Given the description of an element on the screen output the (x, y) to click on. 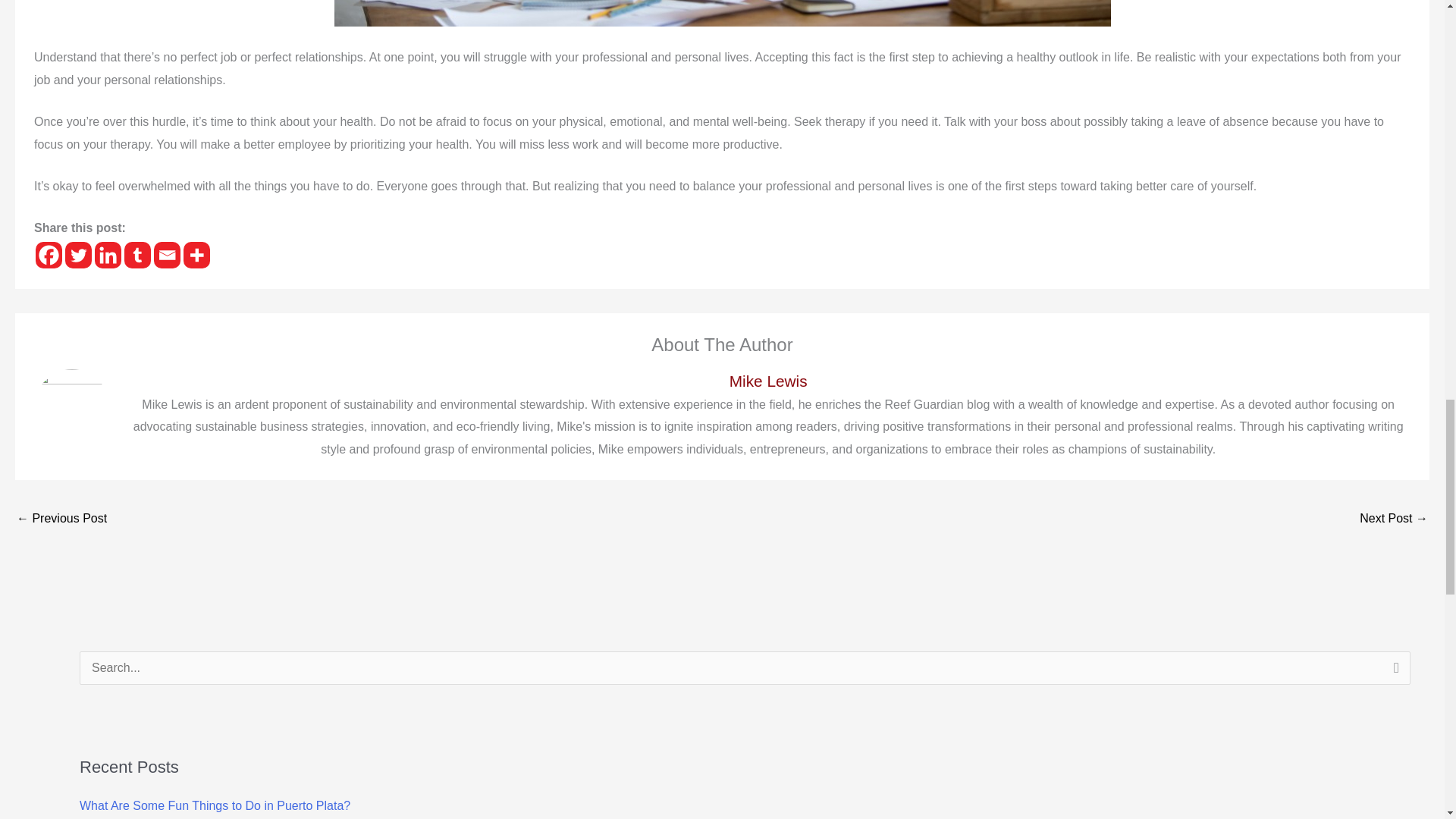
Linkedin (107, 254)
More (196, 254)
Cybersecurity: Are You Paranoid Enough? (61, 519)
Tumblr (137, 254)
Mike Lewis (767, 381)
3 Ways to Reduce Divorce Stress (1393, 519)
Facebook (48, 254)
Email (167, 254)
What Are Some Fun Things to Do in Puerto Plata? (215, 805)
Twitter (78, 254)
